Given the description of an element on the screen output the (x, y) to click on. 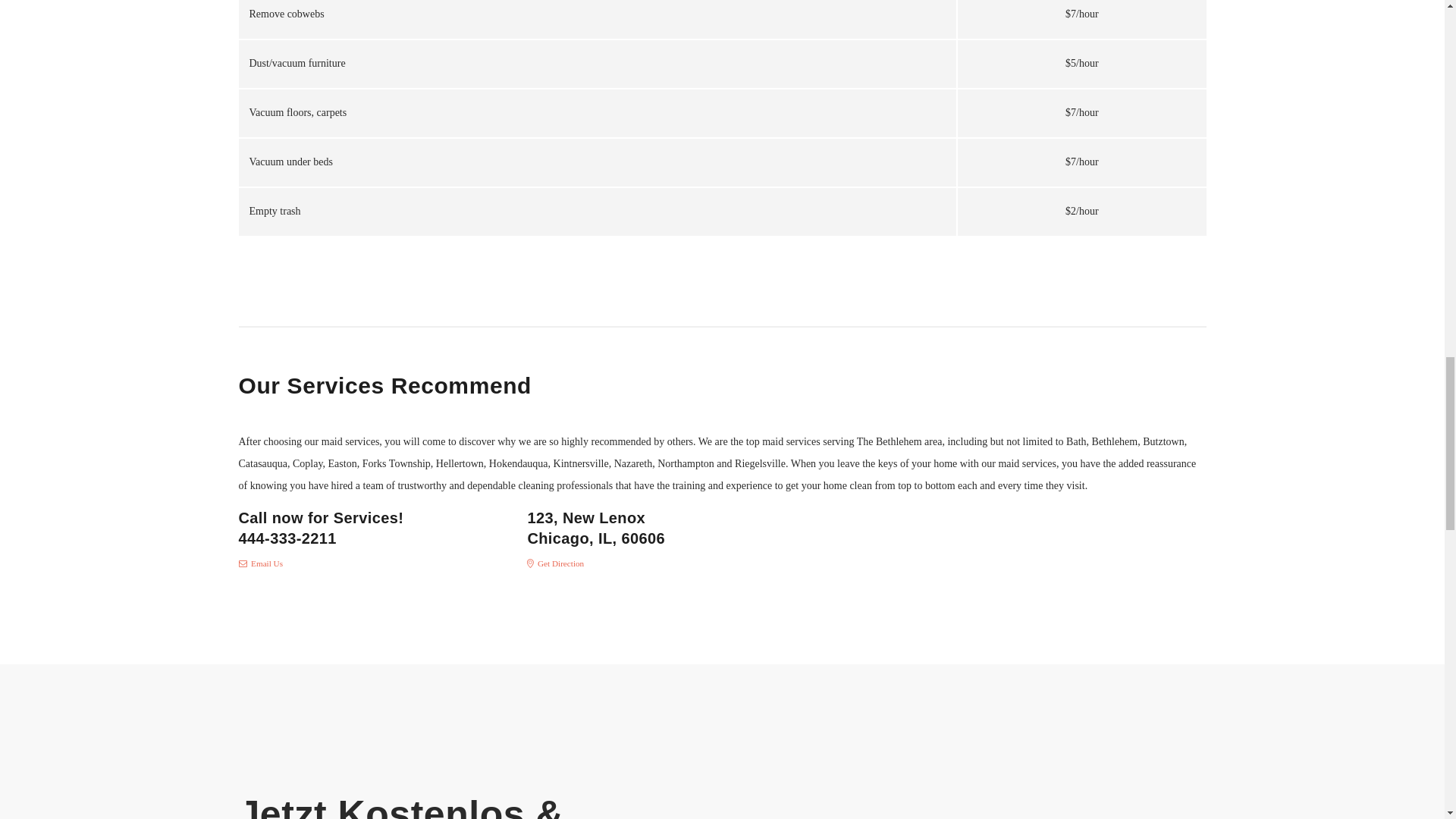
  Email Us (260, 563)
  Get Direction (555, 563)
